Given the description of an element on the screen output the (x, y) to click on. 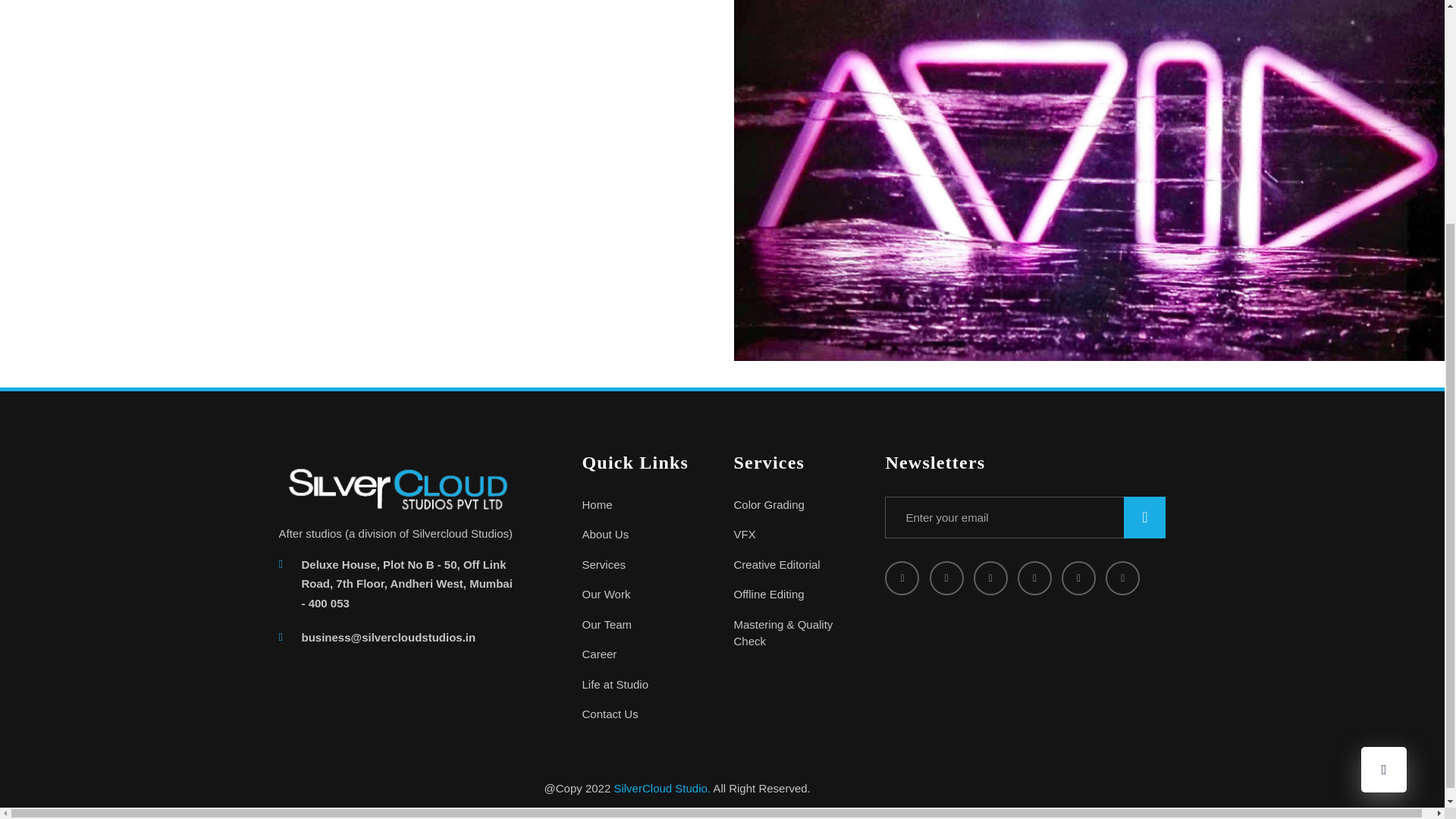
Creative Editorial (797, 565)
Contact Us (645, 714)
Our Work (645, 594)
Career (645, 654)
Services (645, 565)
SilverCloud Studio. (661, 788)
Home (645, 505)
Offline Editing (797, 594)
VFX (797, 534)
Color Grading (797, 505)
About Us (645, 534)
Life at Studio (645, 684)
Our Team (645, 624)
